Given the description of an element on the screen output the (x, y) to click on. 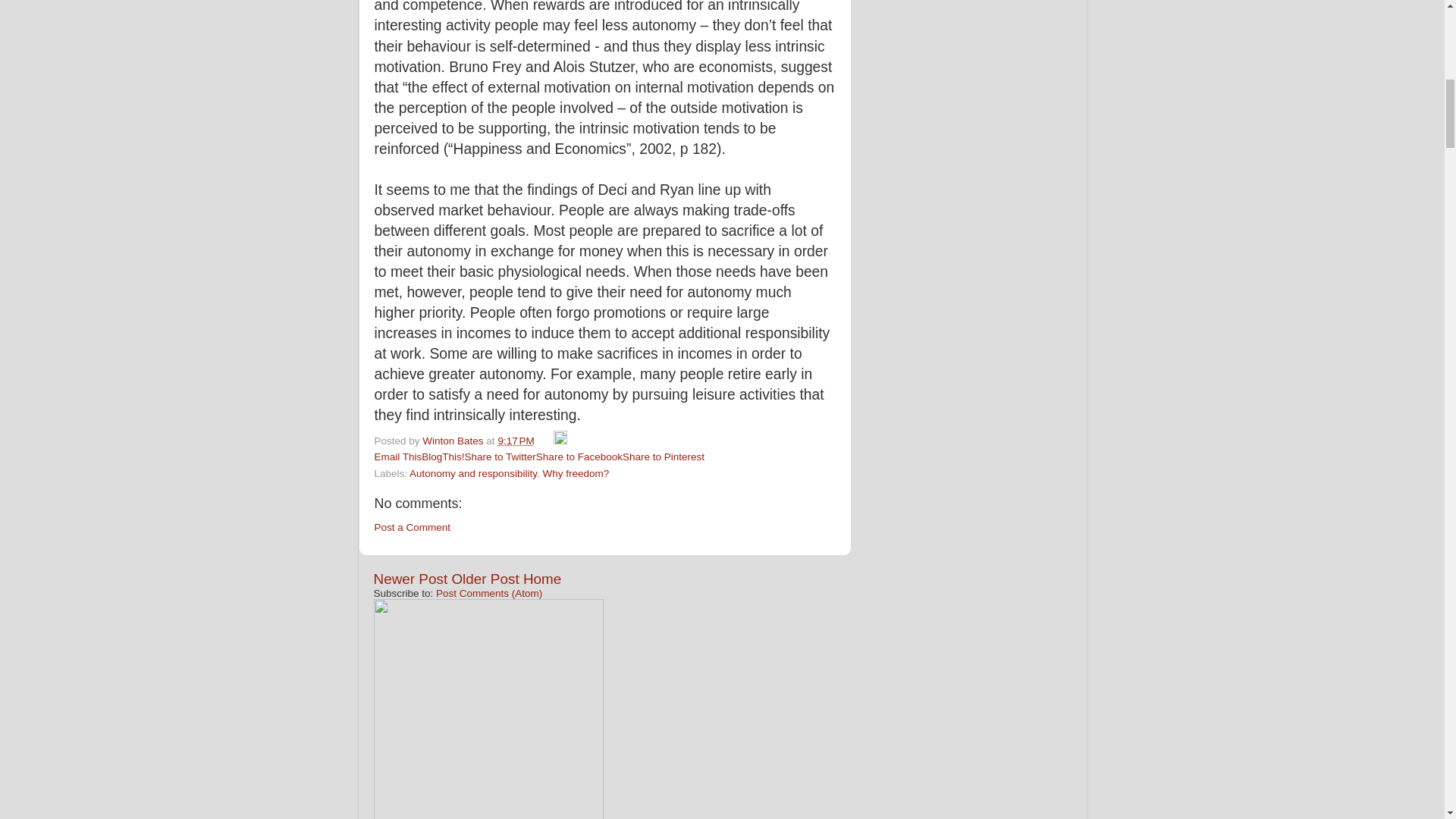
Post a Comment (412, 527)
Autonomy and responsibility (473, 473)
author profile (454, 440)
Share to Pinterest (663, 456)
Older Post (484, 578)
Home (541, 578)
BlogThis! (443, 456)
Email This (398, 456)
Newer Post (409, 578)
Winton Bates (454, 440)
Edit Post (560, 440)
Share to Twitter (499, 456)
Share to Facebook (579, 456)
BlogThis! (443, 456)
